Given the description of an element on the screen output the (x, y) to click on. 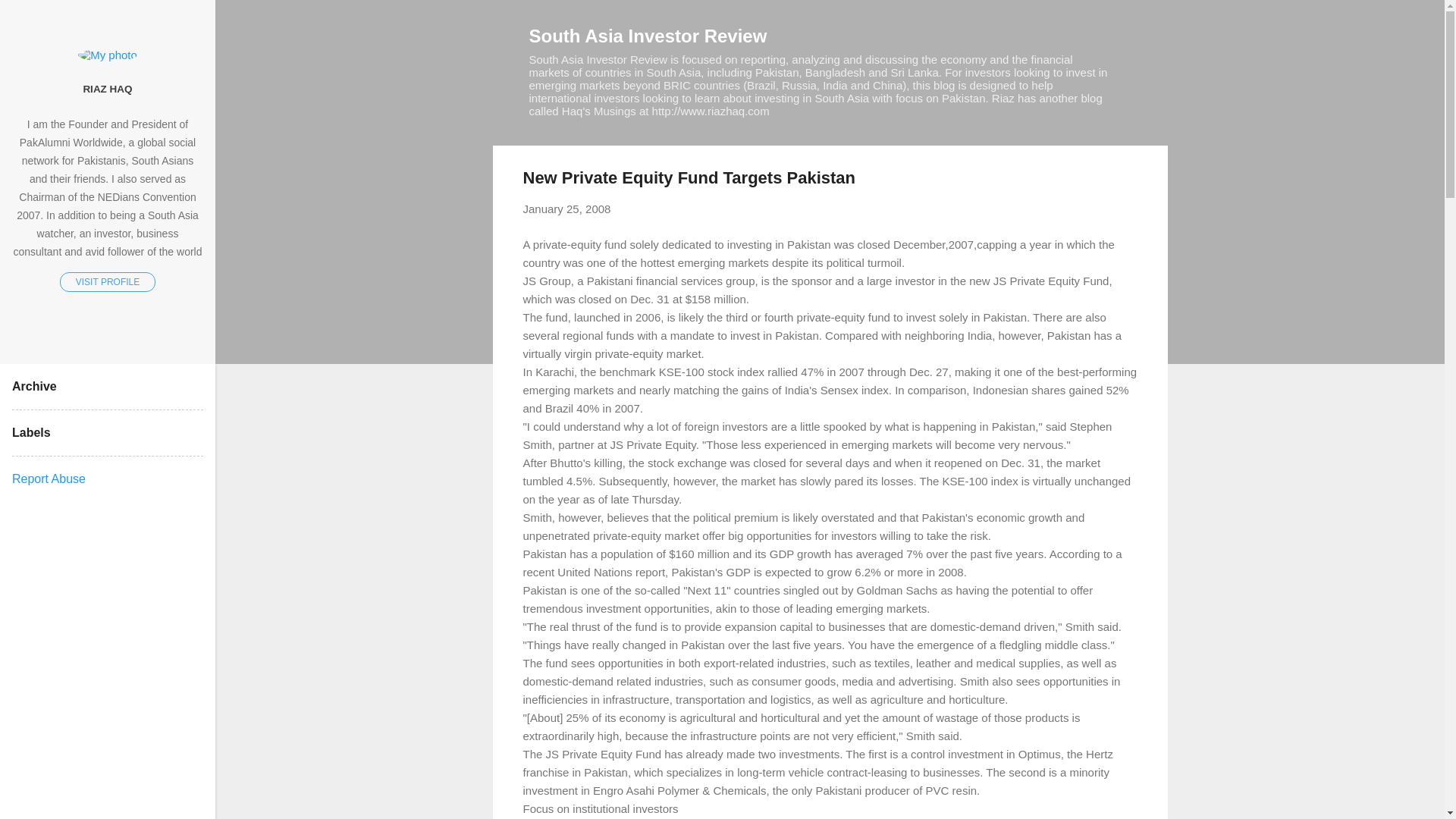
January 25, 2008 (566, 208)
permanent link (566, 208)
Search (29, 18)
South Asia Investor Review (648, 35)
